Given the description of an element on the screen output the (x, y) to click on. 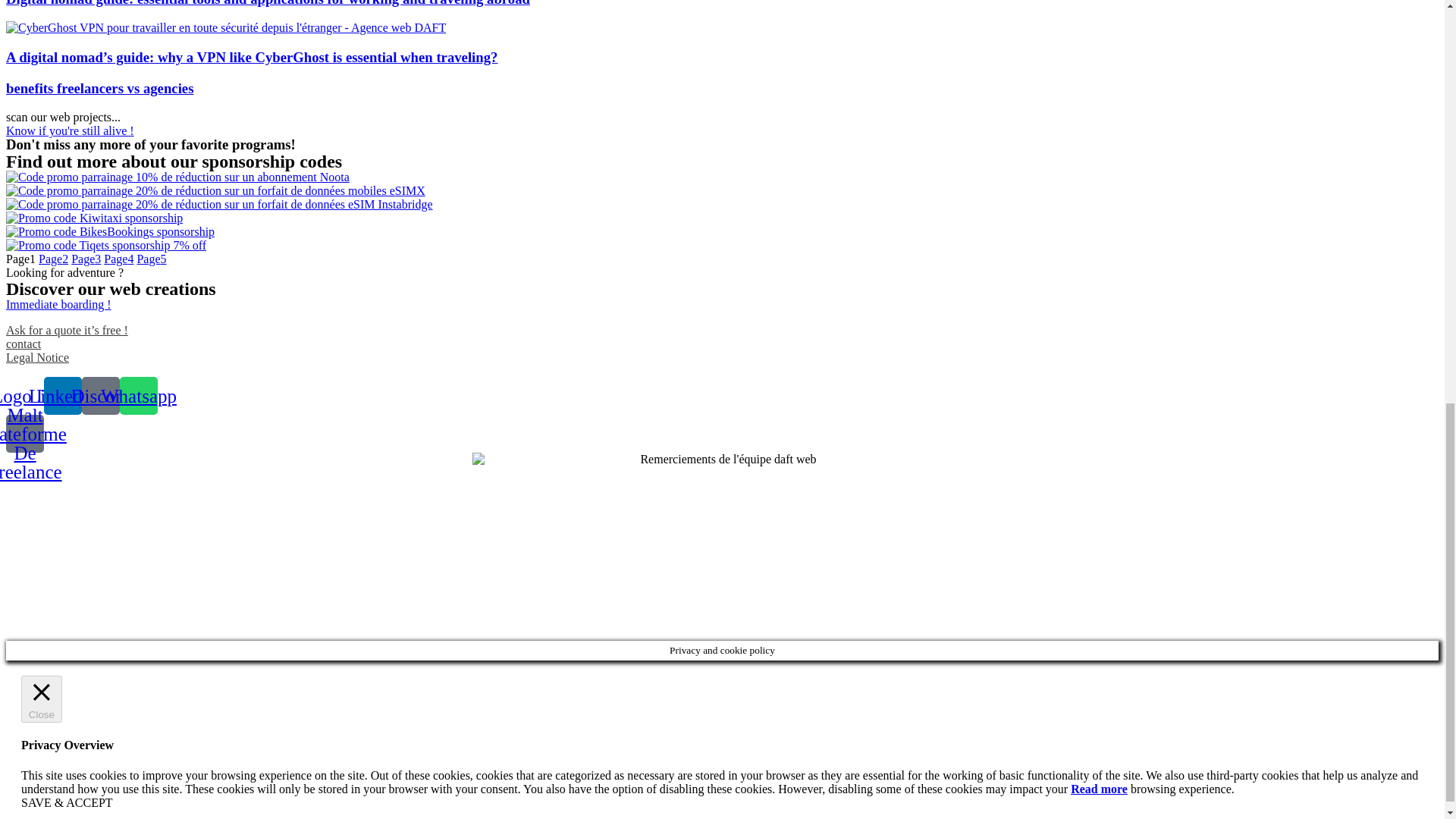
benefits freelancers vs agencies (99, 88)
projects (69, 130)
Page2 (53, 258)
Know if you're still alive ! (69, 130)
